Given the description of an element on the screen output the (x, y) to click on. 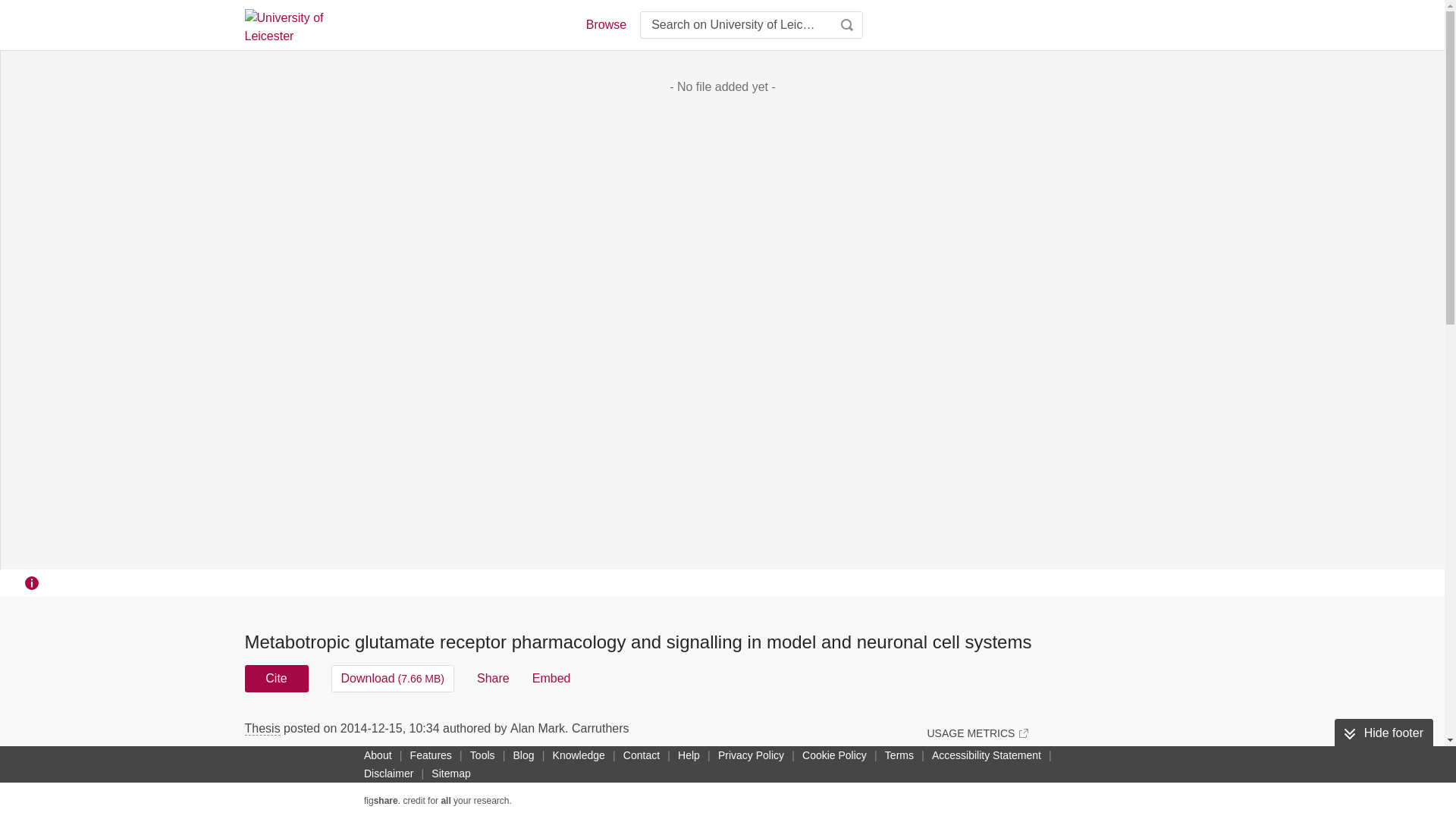
Cite (275, 678)
Disclaimer (388, 773)
USAGE METRICS (976, 732)
Cookie Policy (833, 755)
About (377, 755)
Knowledge (579, 755)
Privacy Policy (751, 755)
Help (688, 755)
Embed (551, 678)
Features (431, 755)
